Given the description of an element on the screen output the (x, y) to click on. 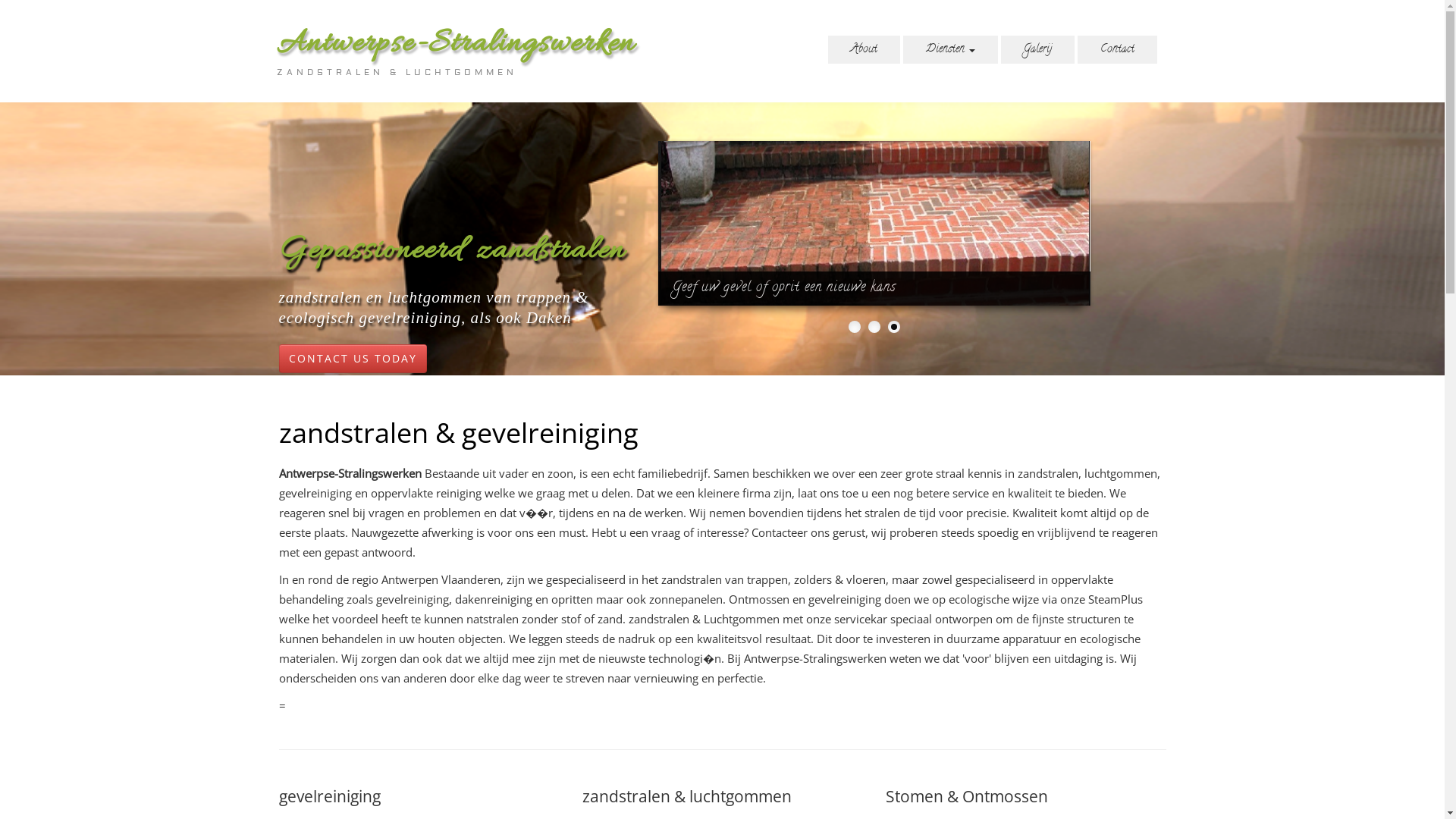
ZANDSTRALEN & LUCHTGOMMEN Element type: text (396, 72)
CONTACT US TODAY Element type: text (352, 358)
About Element type: text (864, 49)
Antwerpse-Stralingswerken Element type: text (454, 43)
Contact Element type: text (1116, 49)
Galerij Element type: text (1037, 49)
Diensten Element type: text (949, 49)
